Given the description of an element on the screen output the (x, y) to click on. 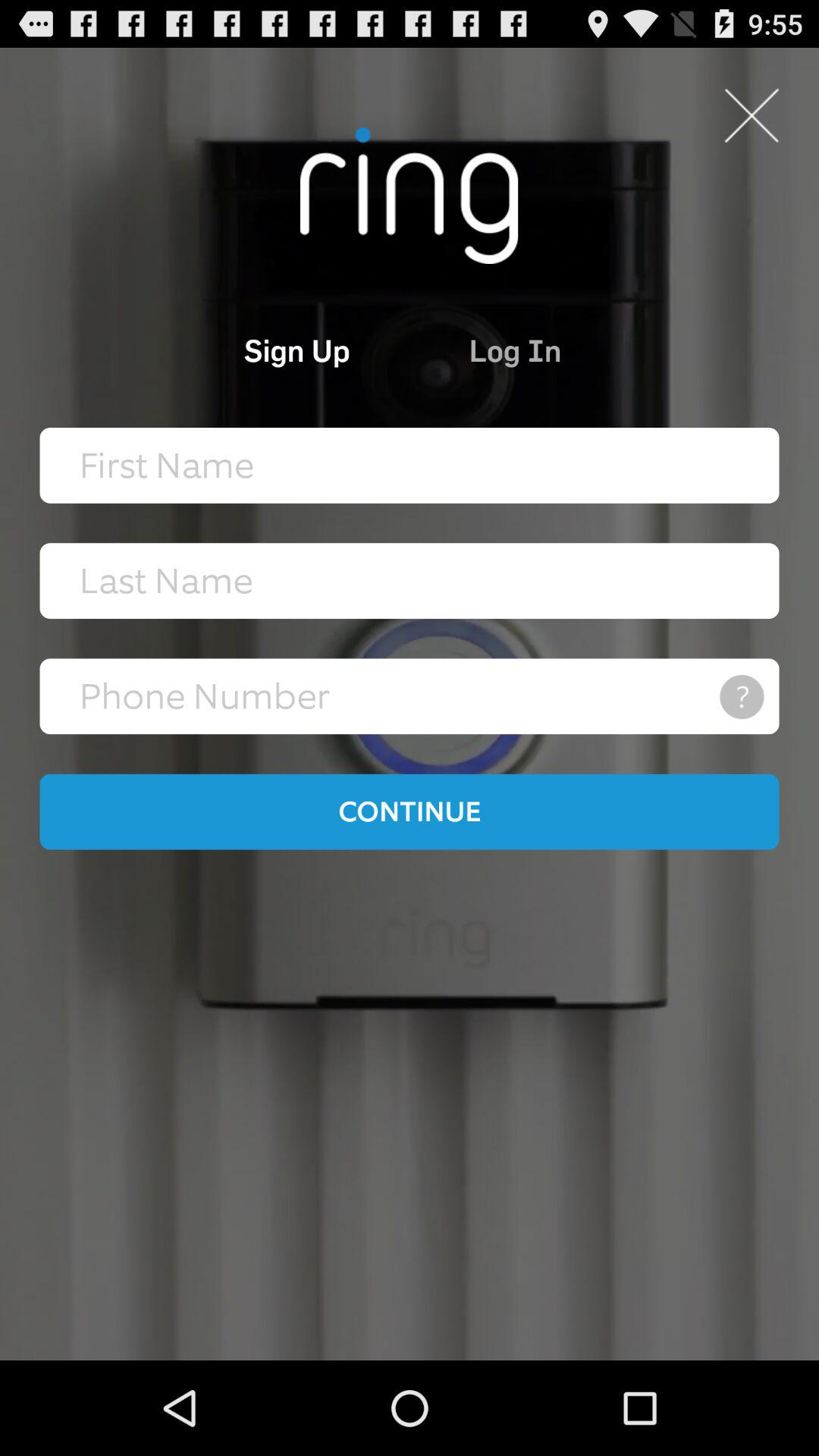
launch item above the log in (751, 115)
